Given the description of an element on the screen output the (x, y) to click on. 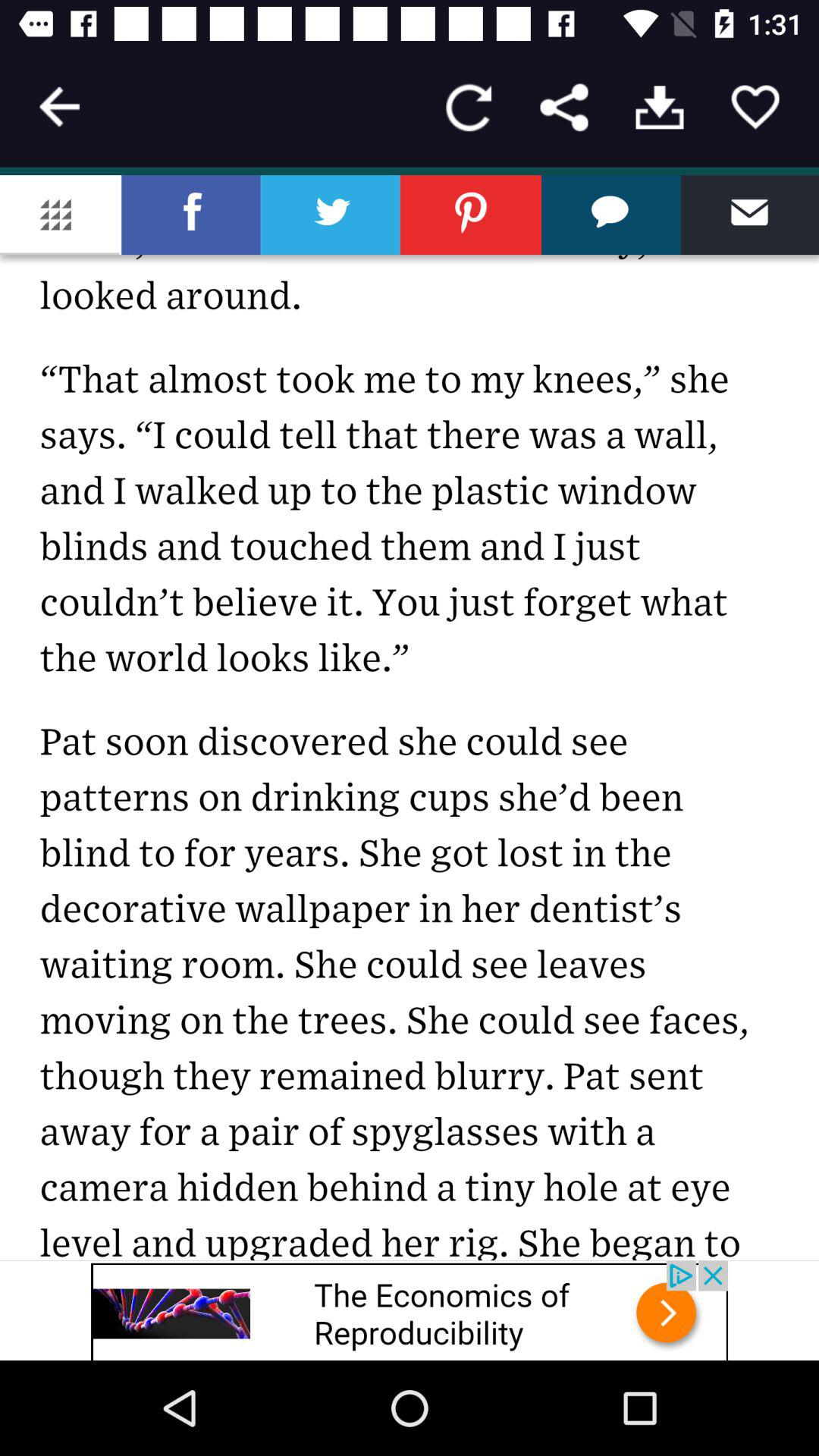
replay button (468, 107)
